Given the description of an element on the screen output the (x, y) to click on. 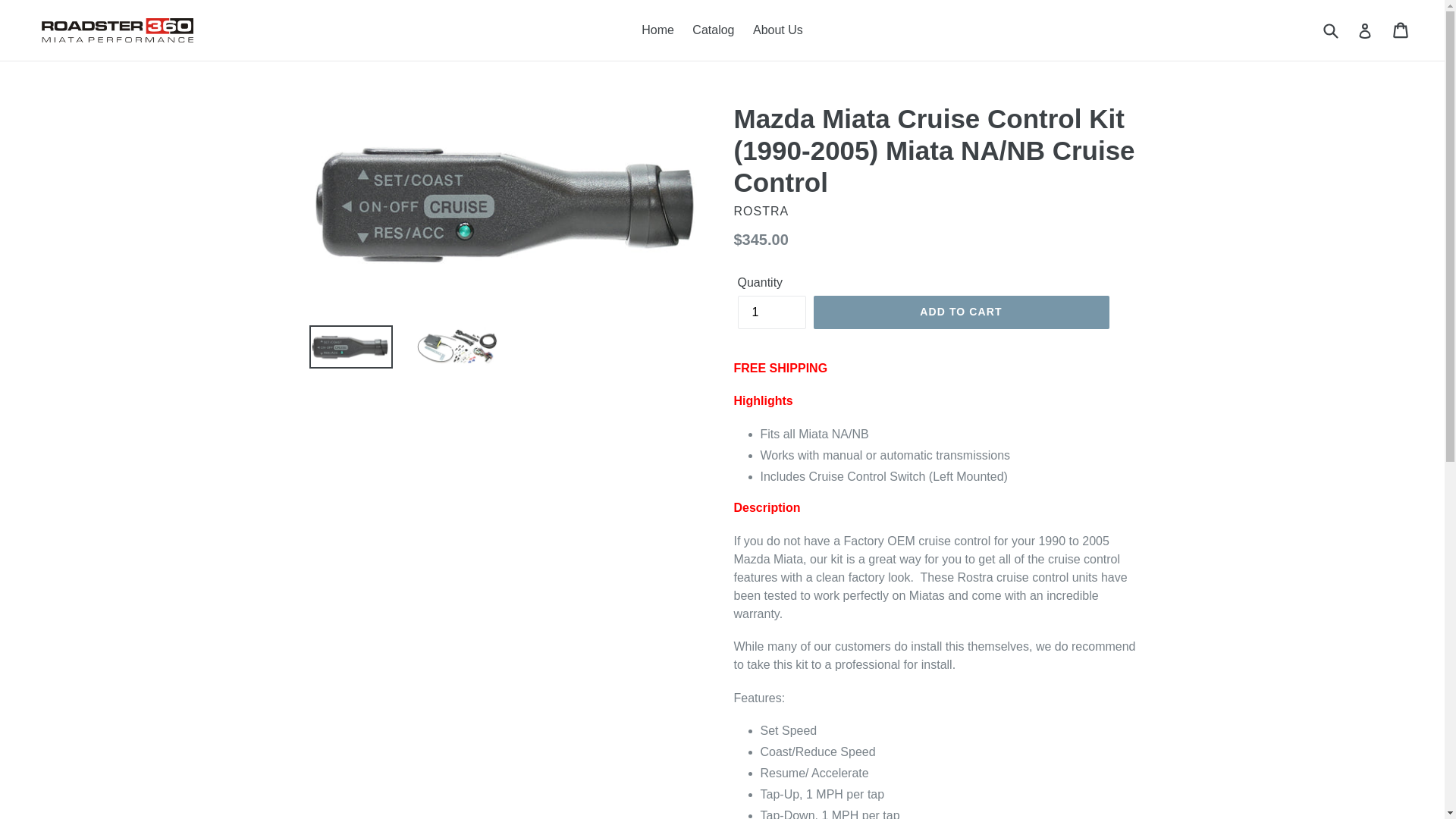
ADD TO CART (960, 312)
ROSTRA (761, 210)
1 (770, 312)
About Us (777, 29)
Home (657, 29)
Catalog (712, 29)
Rostra (761, 210)
